Given the description of an element on the screen output the (x, y) to click on. 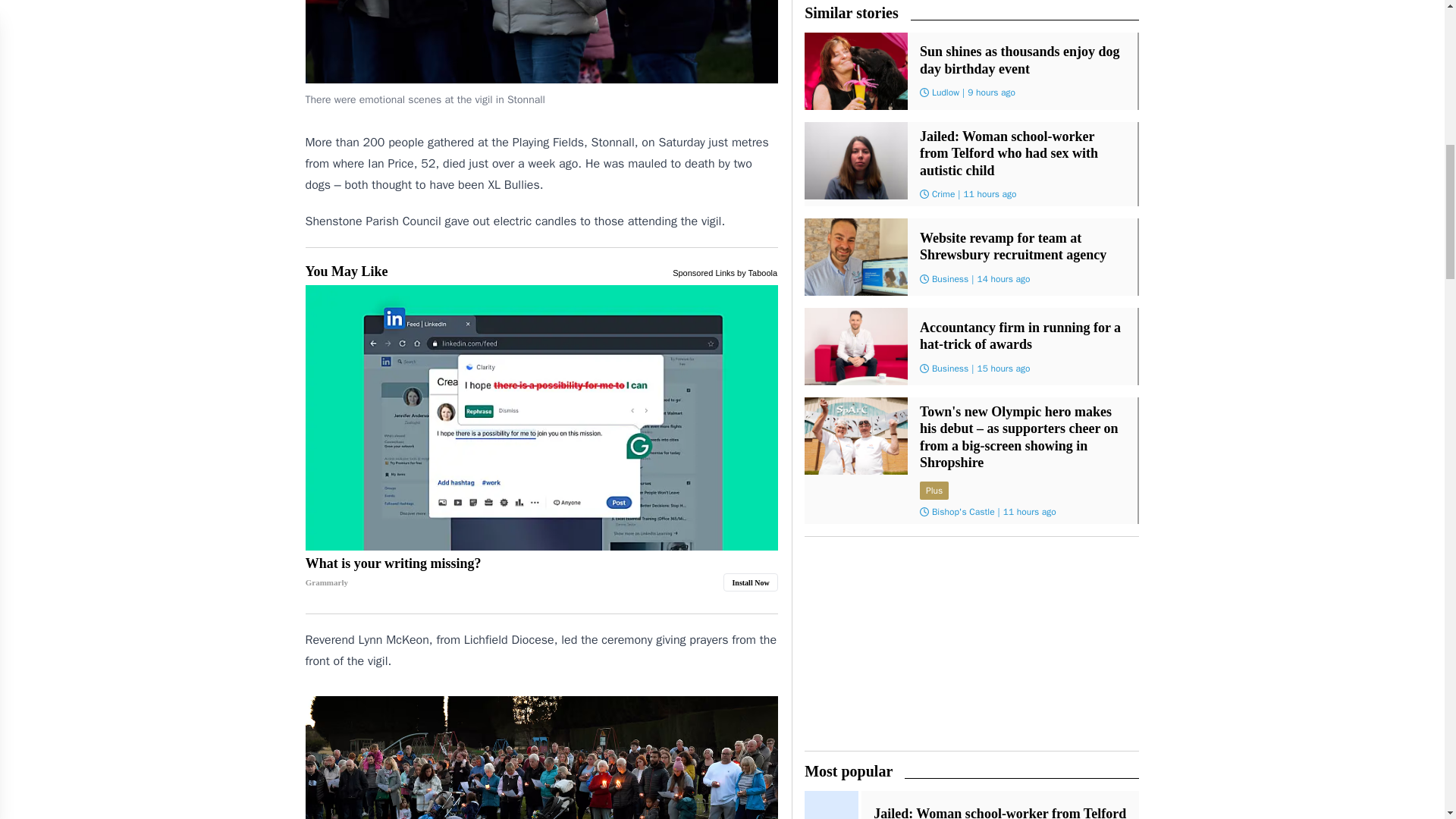
What is your writing missing? (541, 572)
What is your writing missing? (541, 418)
